Given the description of an element on the screen output the (x, y) to click on. 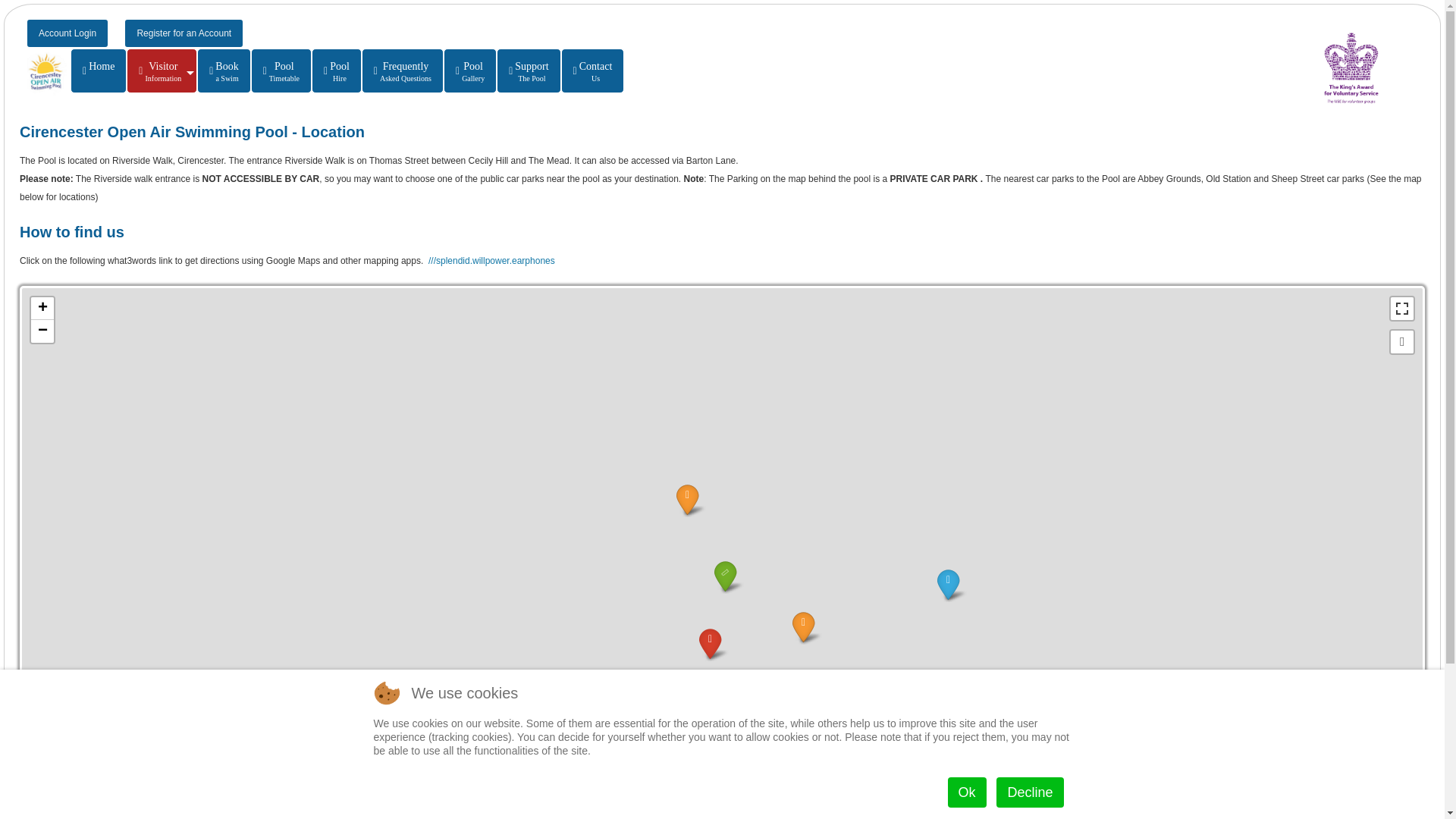
Home (98, 70)
View Fullscreen (593, 70)
Decline (1401, 308)
Ok (1028, 792)
Account Login (281, 70)
Zoom out (470, 70)
